Given the description of an element on the screen output the (x, y) to click on. 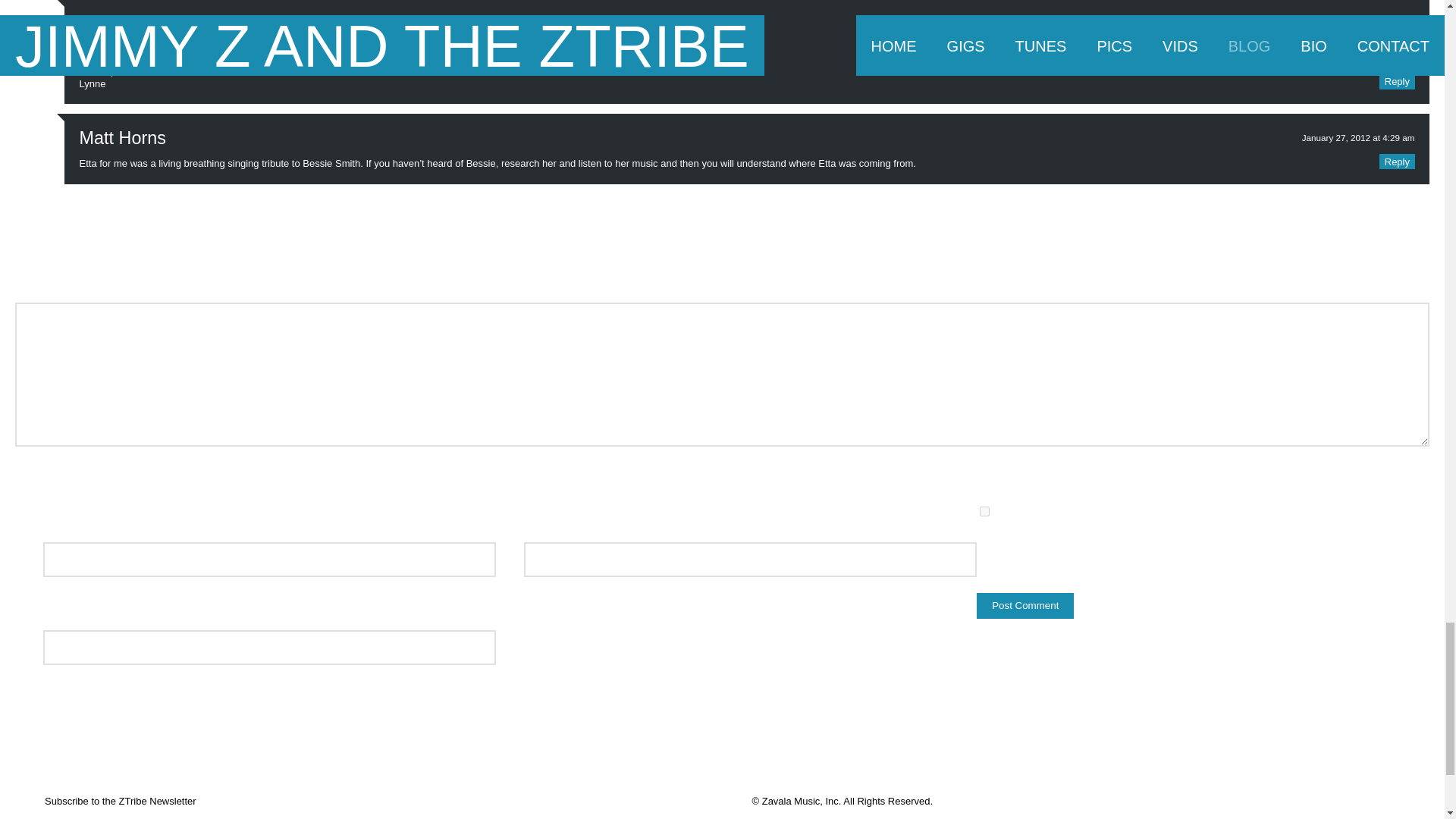
Post Comment (1025, 605)
Subscribe to the ZTribe Newsletter (120, 800)
yes (984, 511)
HyperText Markup Language (114, 477)
